Given the description of an element on the screen output the (x, y) to click on. 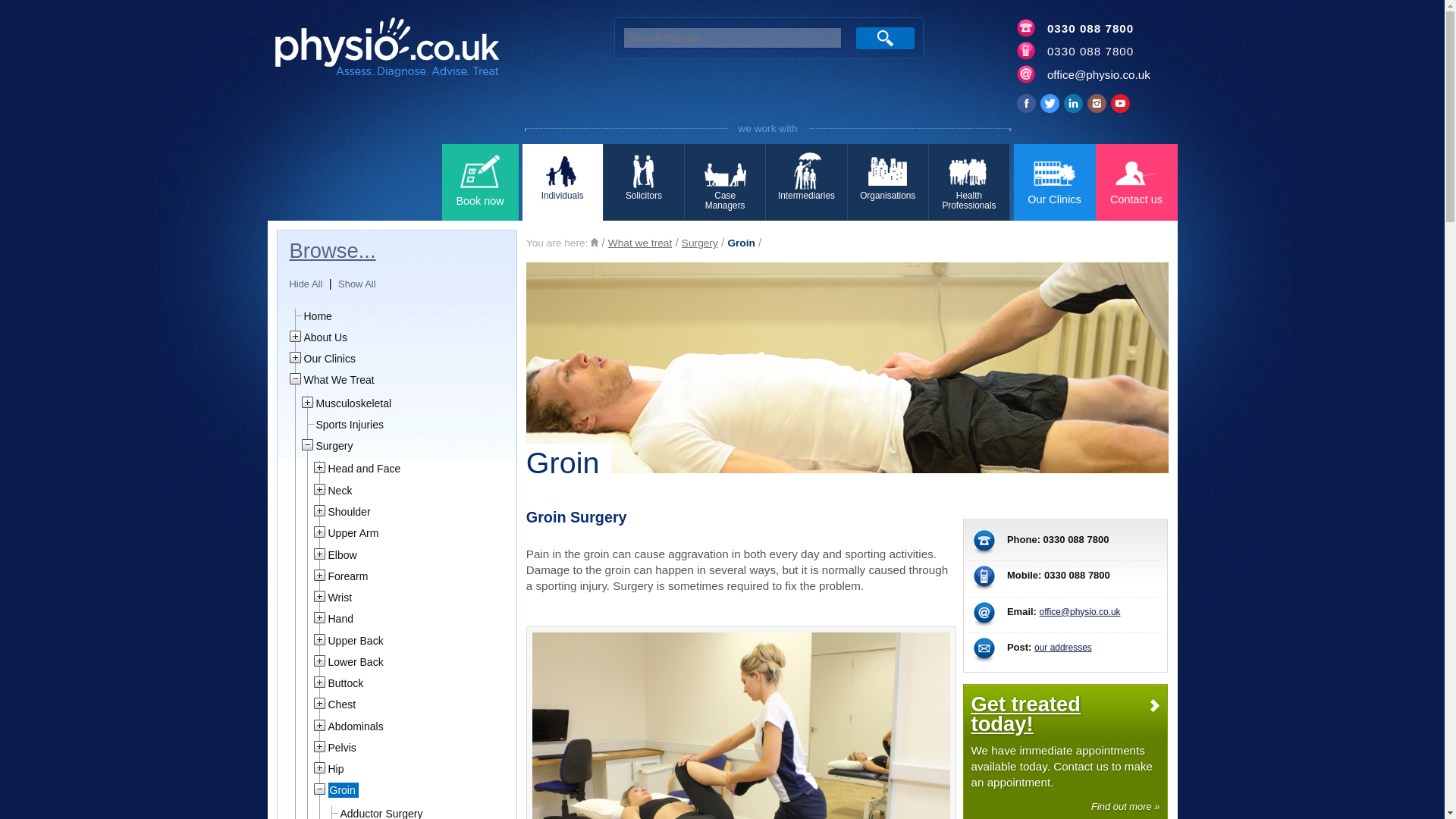
Physio.co.uk - Assess. Diagnose. Advise. Treat. (423, 51)
0330 088 7800 (1090, 28)
YouTube (1119, 103)
Twitter (1050, 103)
Facebook (1025, 103)
Surgery (699, 242)
You are here: (558, 242)
LinkedIn (1073, 103)
